Given the description of an element on the screen output the (x, y) to click on. 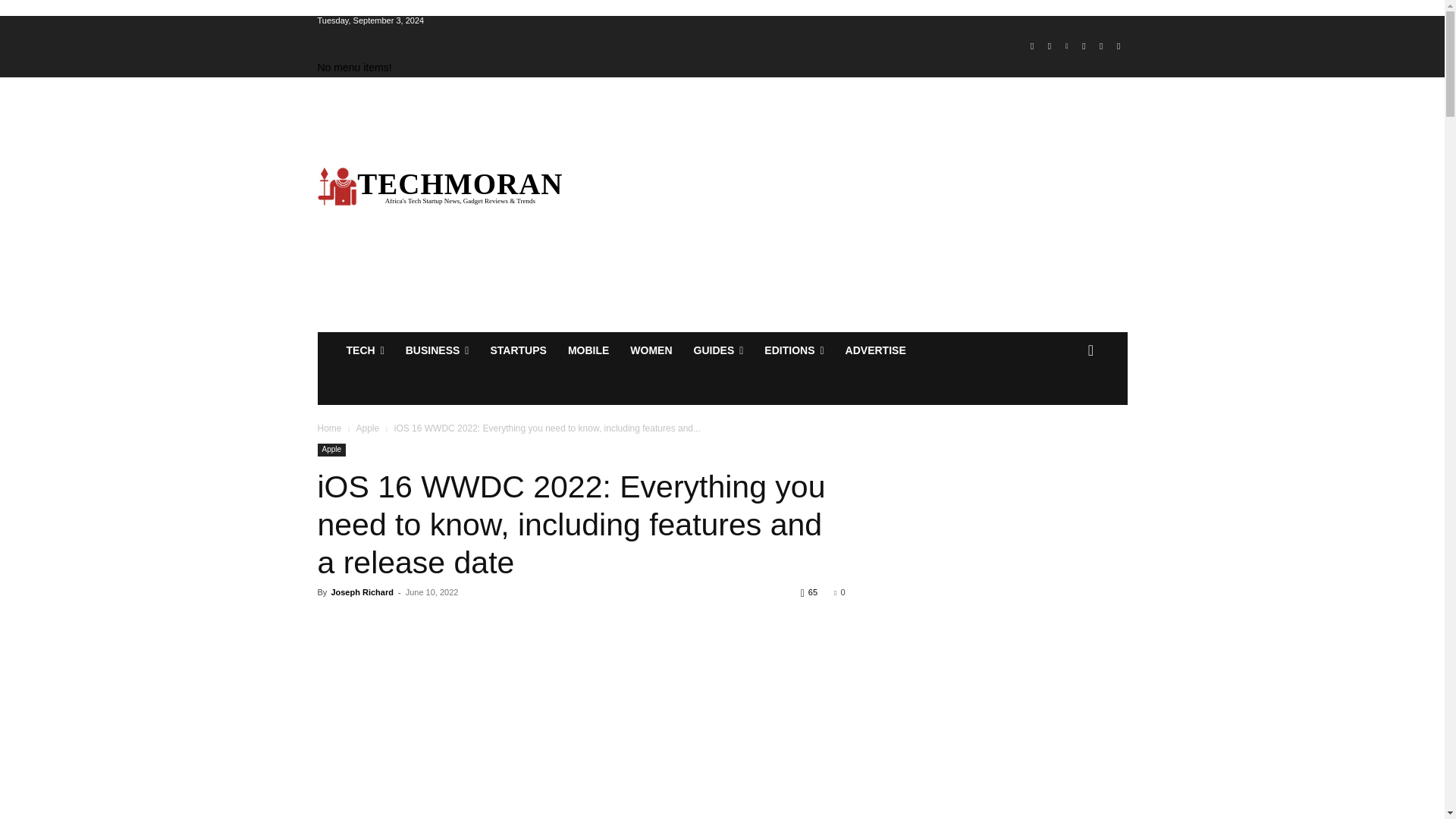
Mobile (588, 350)
BUSINESS (437, 350)
GUIDES (718, 350)
Youtube (1117, 46)
MOBILE (588, 350)
Facebook (1032, 46)
WOMEN (651, 350)
EDITIONS (794, 350)
STARTUPS (517, 350)
Advertisement (865, 204)
